Given the description of an element on the screen output the (x, y) to click on. 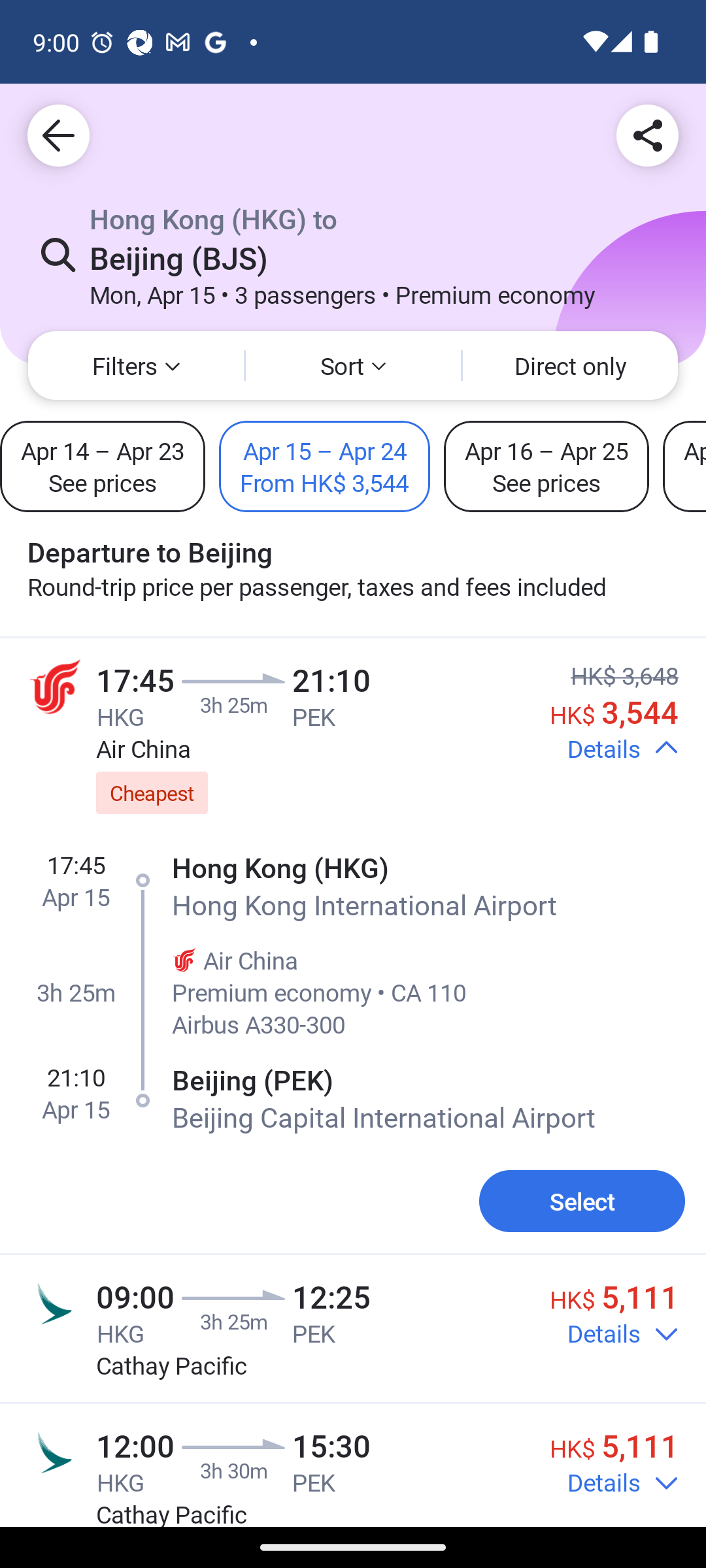
Filters (135, 365)
Sort (353, 365)
Direct only (570, 365)
Apr 14 – Apr 23 See prices (102, 466)
Apr 15 – Apr 24 From HK$ 3,544 (323, 466)
Apr 16 – Apr 25 See prices (546, 466)
Select (581, 1200)
